Given the description of an element on the screen output the (x, y) to click on. 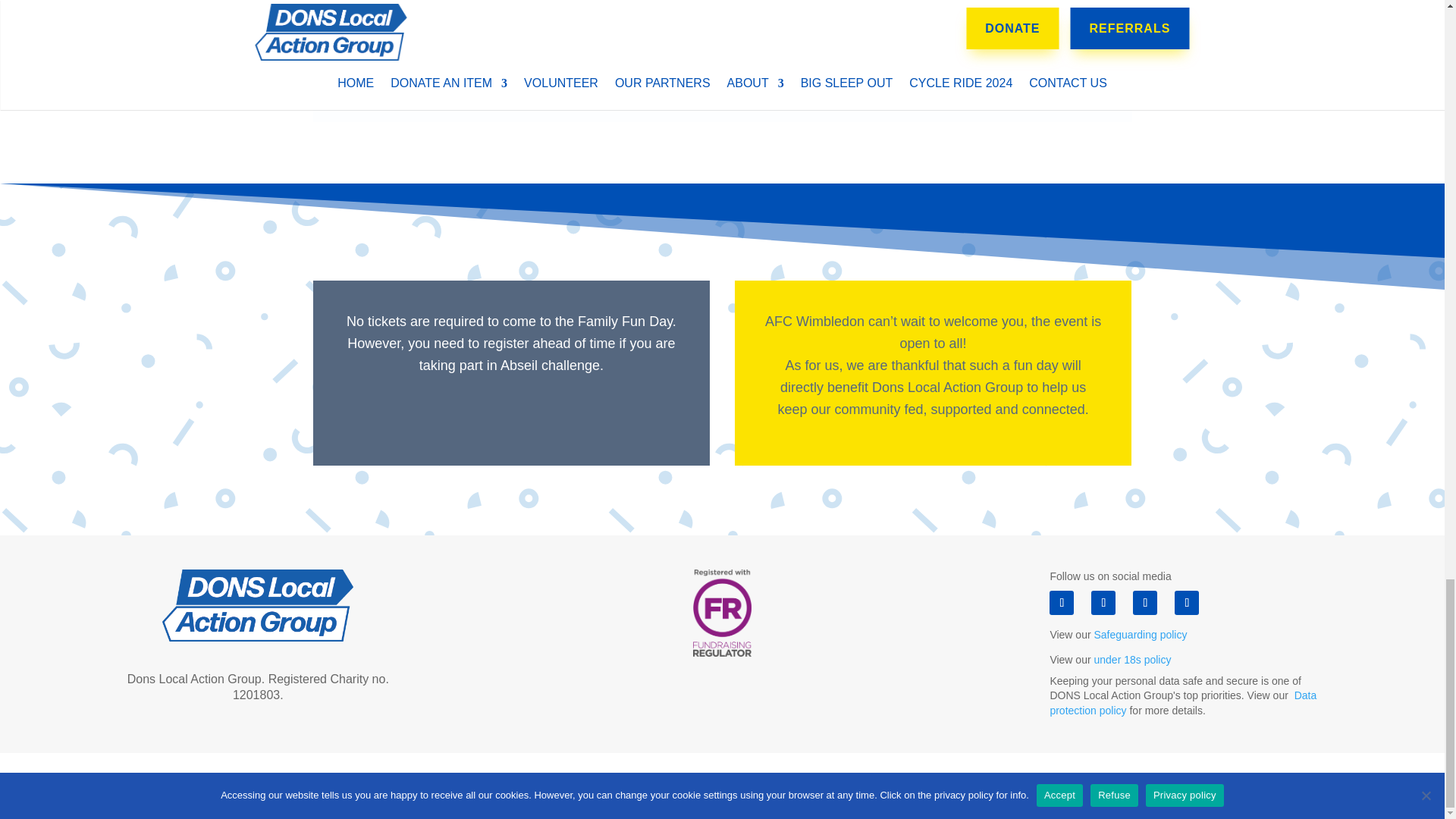
Follow on Twitter (1102, 602)
Safeguarding policy (1139, 634)
Follow on LinkedIn (1186, 602)
Follow on Instagram (1144, 602)
Follow on Facebook (1061, 602)
WhatsApp Image 2022-05-09 at 8.39.30 AM (722, 61)
